Given the description of an element on the screen output the (x, y) to click on. 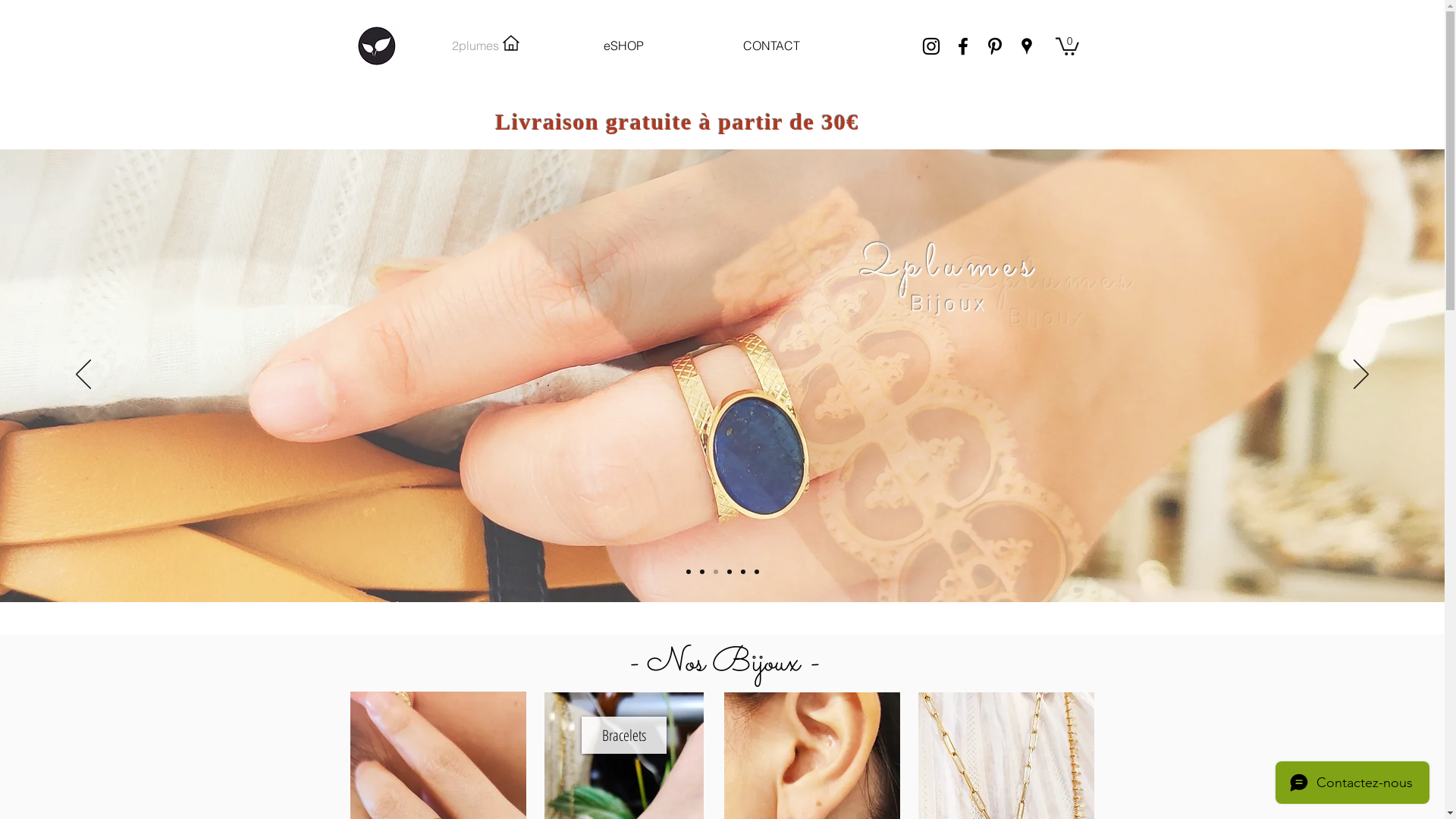
CONTACT Element type: text (771, 45)
0 Element type: text (1067, 45)
eSHOP Element type: text (622, 45)
2plumes Element type: text (475, 45)
Bracelets Element type: text (622, 734)
